Given the description of an element on the screen output the (x, y) to click on. 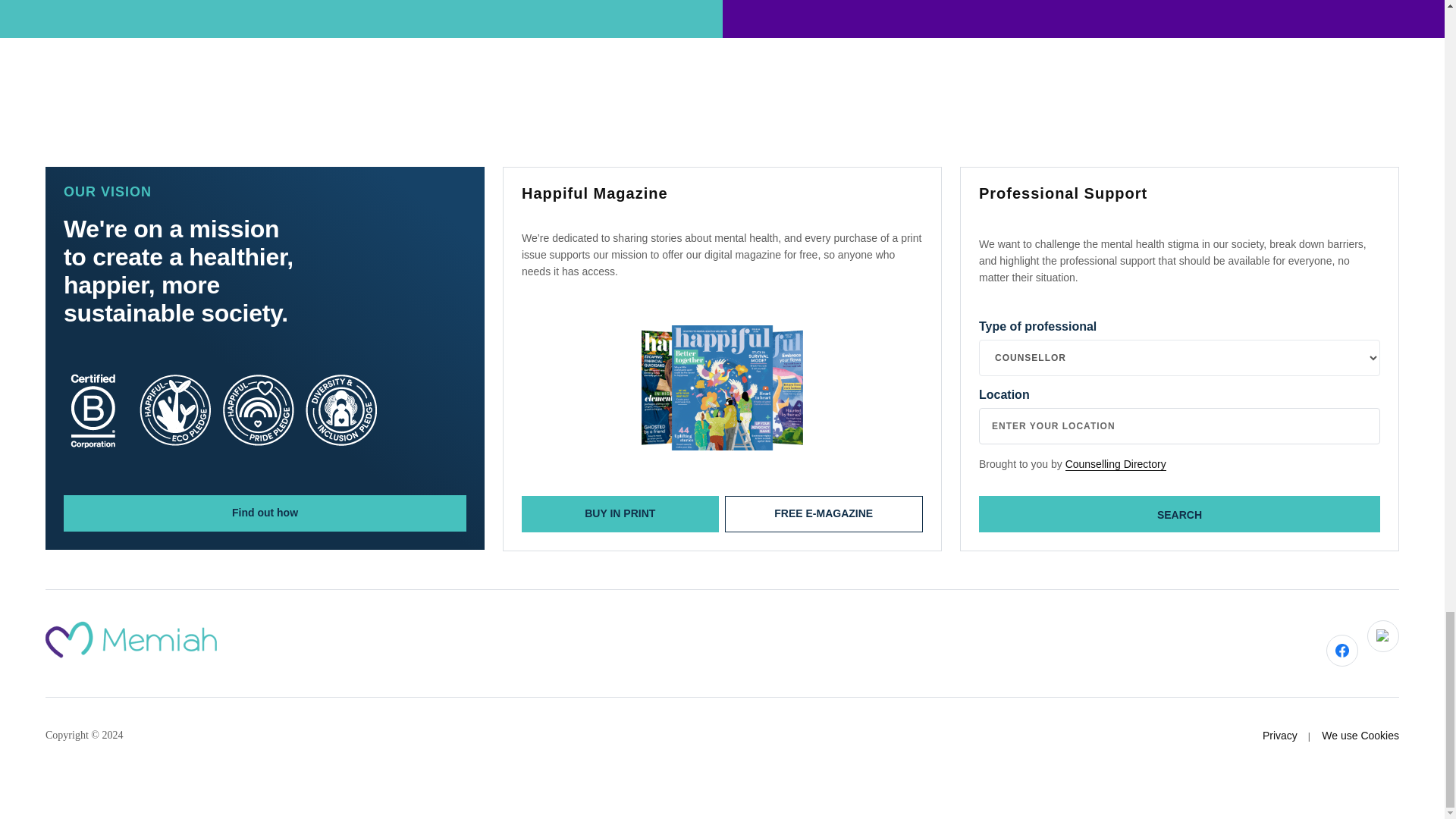
SEARCH (1179, 514)
BUY IN PRINT (620, 514)
Find out how (264, 513)
Free eMagazine (824, 514)
Counselling Directory (1115, 463)
FREE E-MAGAZINE (824, 514)
Happiful Website (722, 387)
Privacy (1279, 735)
Buy in Print (361, 18)
